Given the description of an element on the screen output the (x, y) to click on. 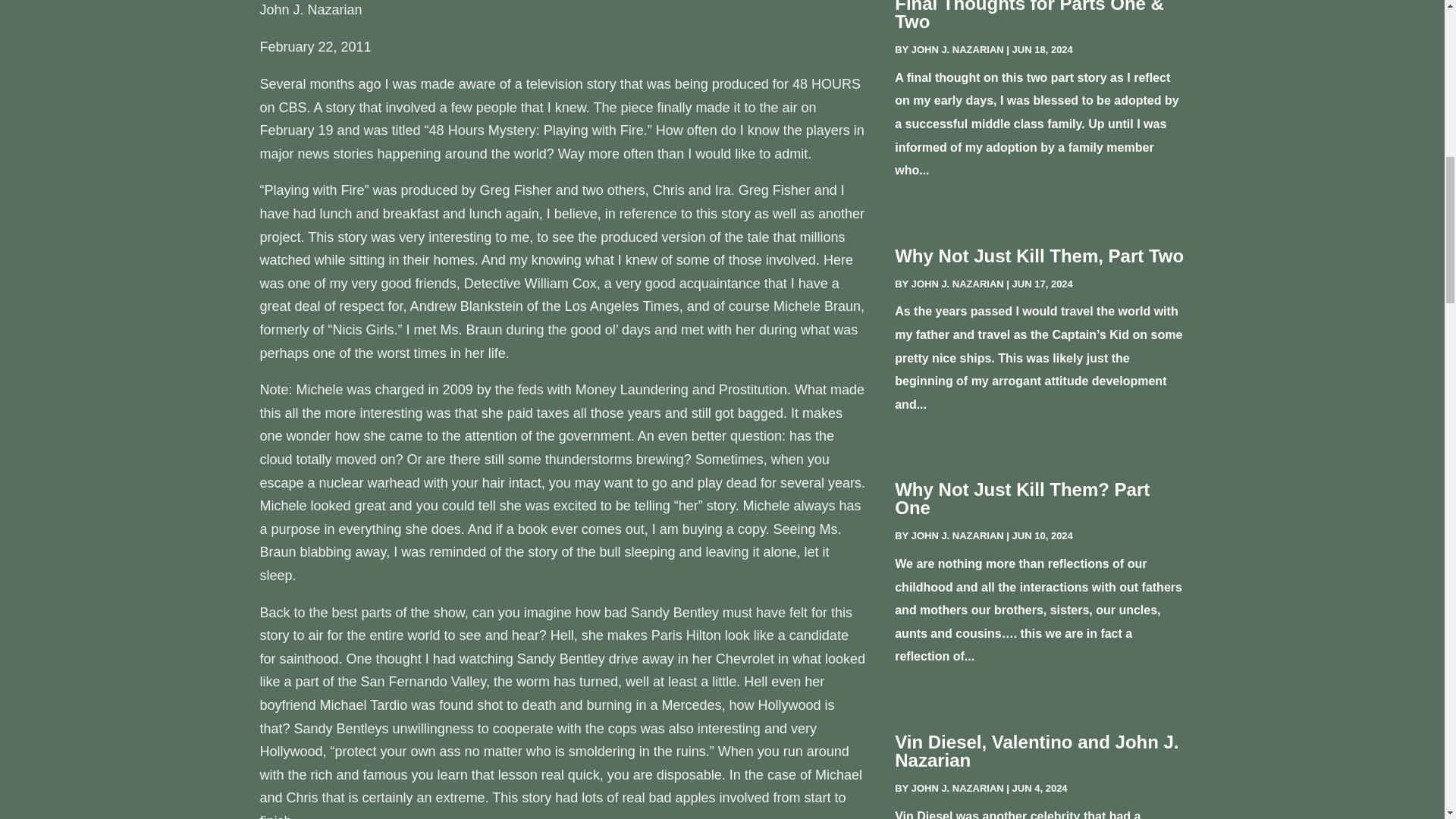
JOHN J. NAZARIAN (957, 535)
Posts by John J. Nazarian (957, 787)
Vin Diesel, Valentino and John J. Nazarian (1036, 751)
Why Not Just Kill Them, Part Two (1039, 255)
Posts by John J. Nazarian (957, 49)
Posts by John J. Nazarian (957, 283)
Posts by John J. Nazarian (957, 535)
JOHN J. NAZARIAN (957, 49)
Why Not Just Kill Them? Part One (1022, 498)
JOHN J. NAZARIAN (957, 283)
JOHN J. NAZARIAN (957, 787)
